Given the description of an element on the screen output the (x, y) to click on. 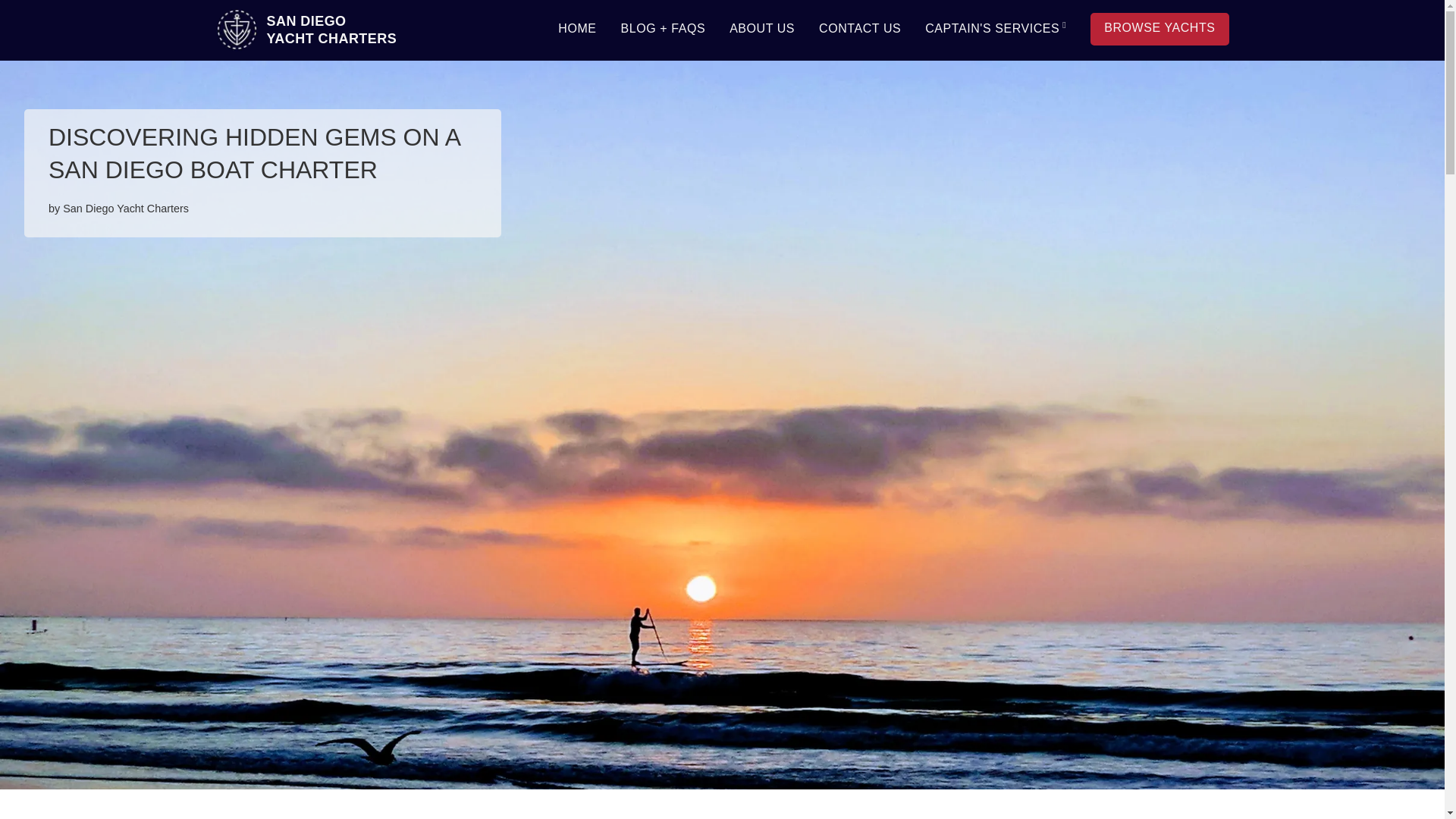
CONTACT US (859, 30)
BROWSE YACHTS (1159, 29)
ABOUT US (761, 30)
HOME (305, 30)
